Given the description of an element on the screen output the (x, y) to click on. 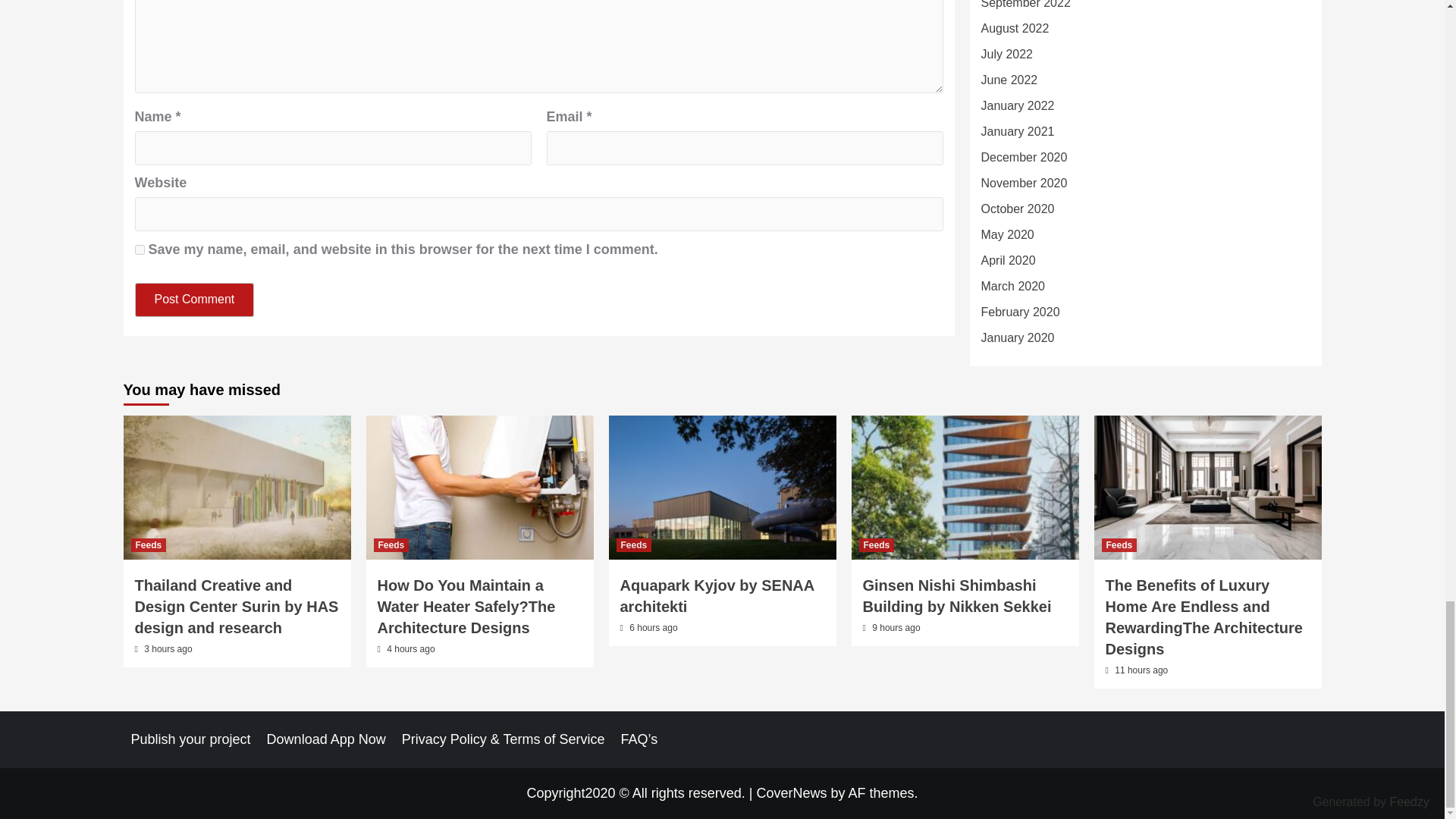
Post Comment (194, 299)
yes (139, 249)
